Given the description of an element on the screen output the (x, y) to click on. 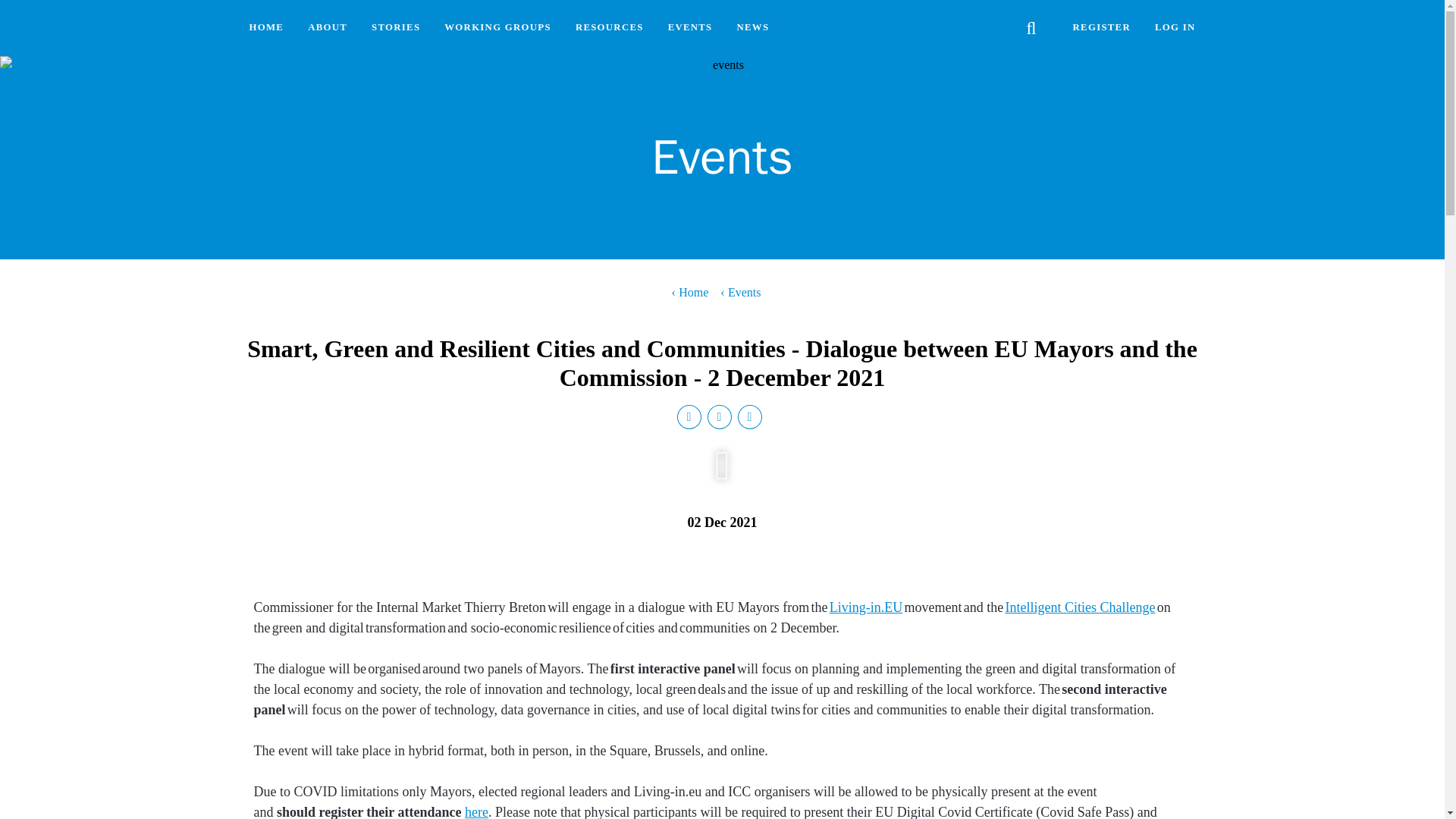
NEWS (753, 28)
Home (690, 292)
Living-in.EU (865, 607)
WORKING GROUPS (497, 28)
HOME (265, 28)
LinkedIn (691, 419)
Share on LinkedIn (691, 419)
Twitter (721, 419)
REGISTER (1101, 28)
